Given the description of an element on the screen output the (x, y) to click on. 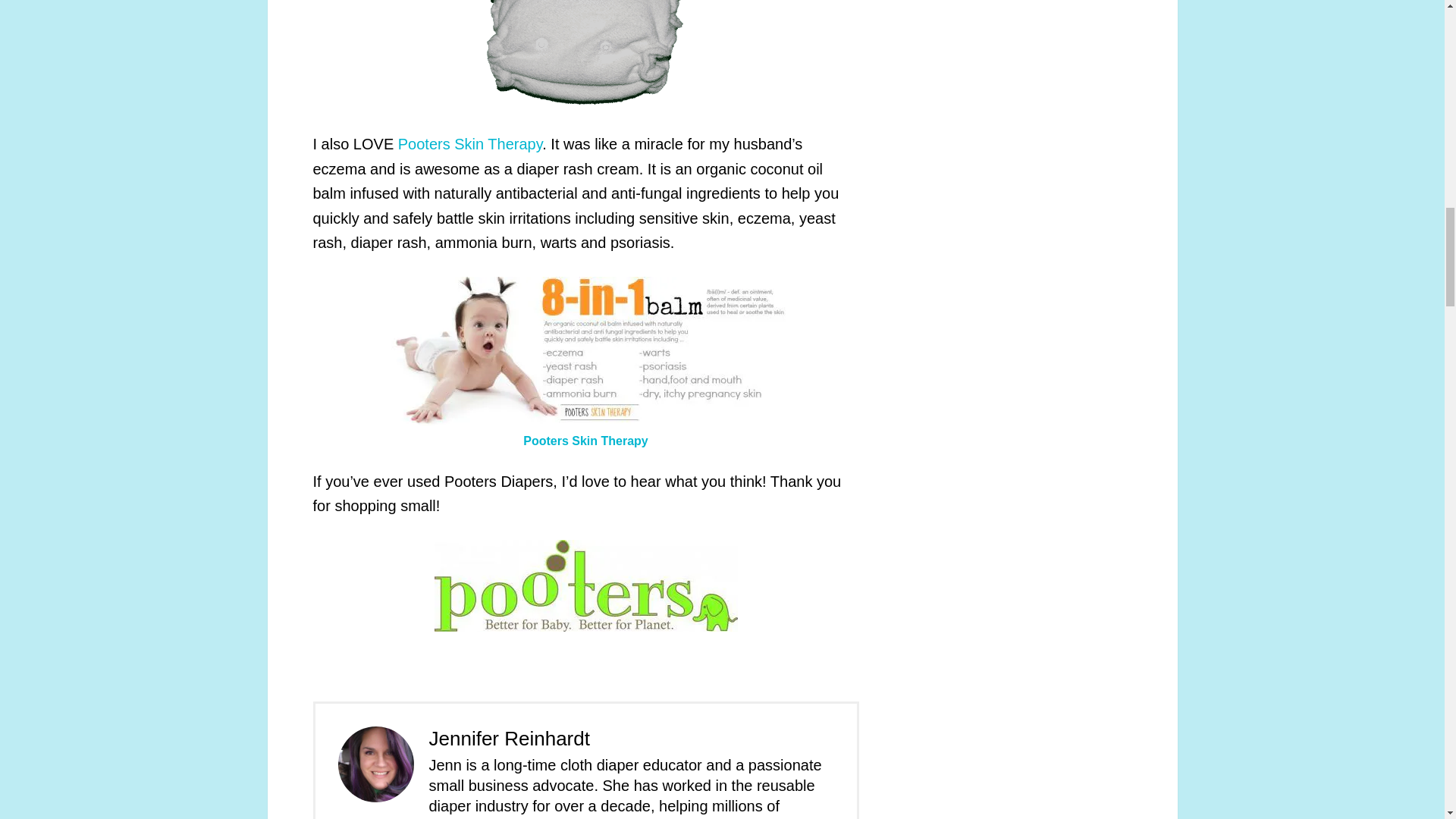
Pooters Skin Therapy (584, 440)
Pooters Skin Therapy (469, 143)
Jennifer Reinhardt (509, 738)
Pooters Products (584, 585)
Pooters Products (586, 350)
Pooters Products (375, 764)
Pooters Skin Therapy (584, 440)
Pooters Skin Therapy (469, 143)
Pooters Products (584, 55)
